Given the description of an element on the screen output the (x, y) to click on. 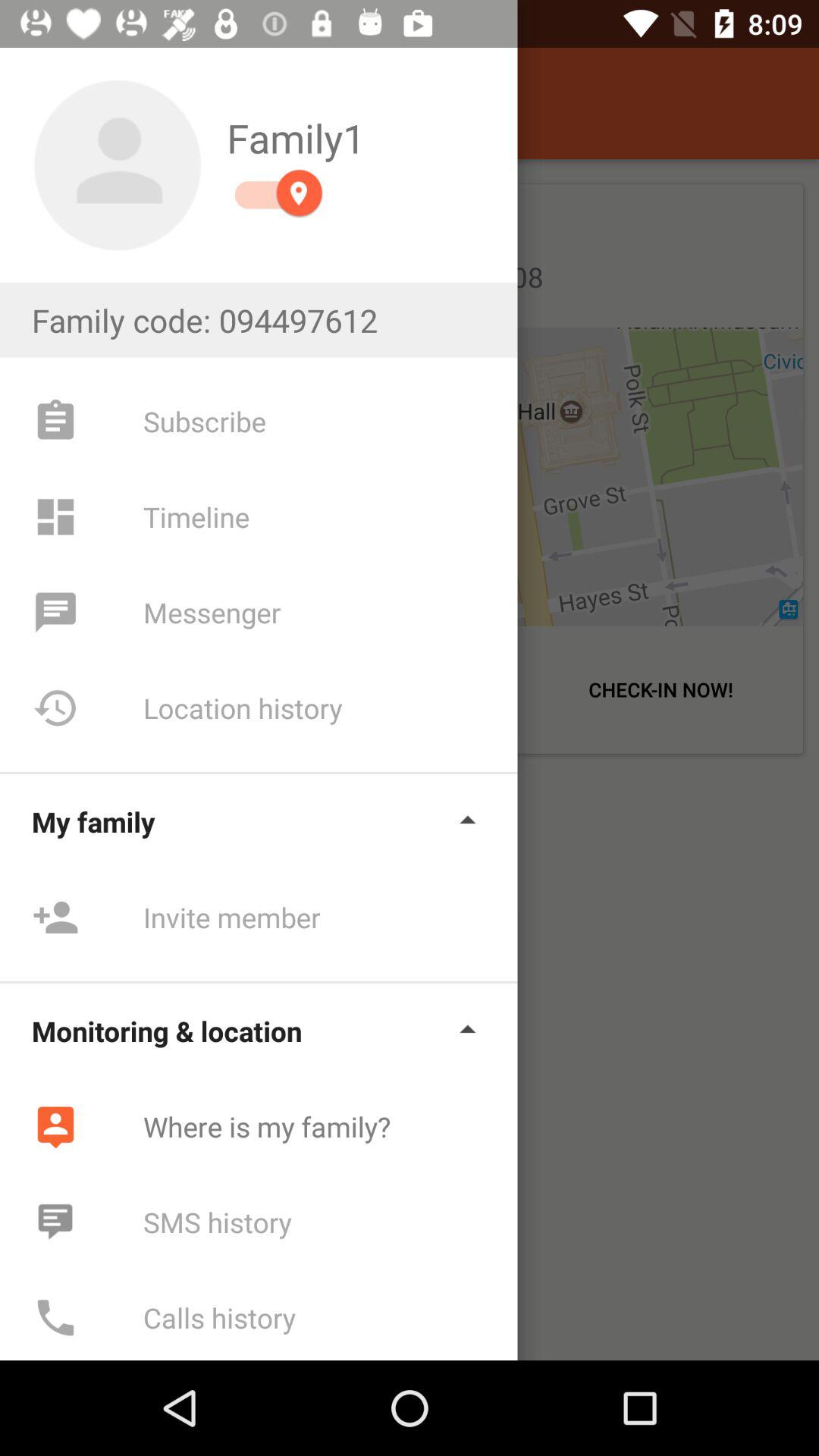
click on the timeline icon (55, 516)
select the icon beside messenger (55, 612)
click on the icon which is left to the text sms history (55, 1222)
